Given the description of an element on the screen output the (x, y) to click on. 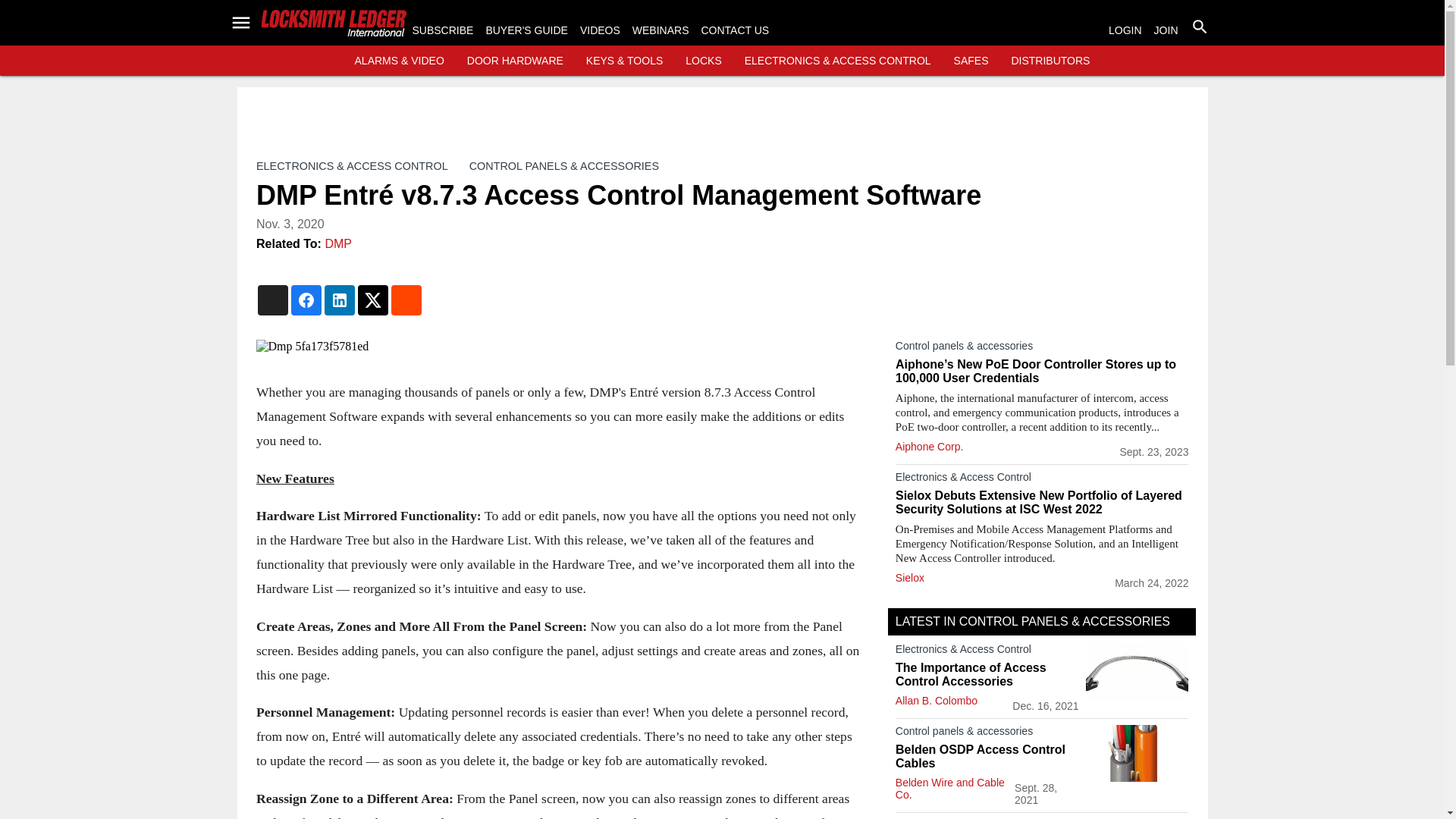
DOOR HARDWARE (515, 60)
WEBINARS (659, 30)
LOCKS (702, 60)
SAFES (970, 60)
DISTRIBUTORS (1049, 60)
JOIN (1165, 30)
VIDEOS (599, 30)
CONTACT US (734, 30)
BUYER'S GUIDE (525, 30)
LOGIN (1124, 30)
SUBSCRIBE (443, 30)
Dmp 5fa173f5781ed (560, 345)
Belden (1137, 753)
Alarm Controls DL-1 door cord (1137, 671)
